Given the description of an element on the screen output the (x, y) to click on. 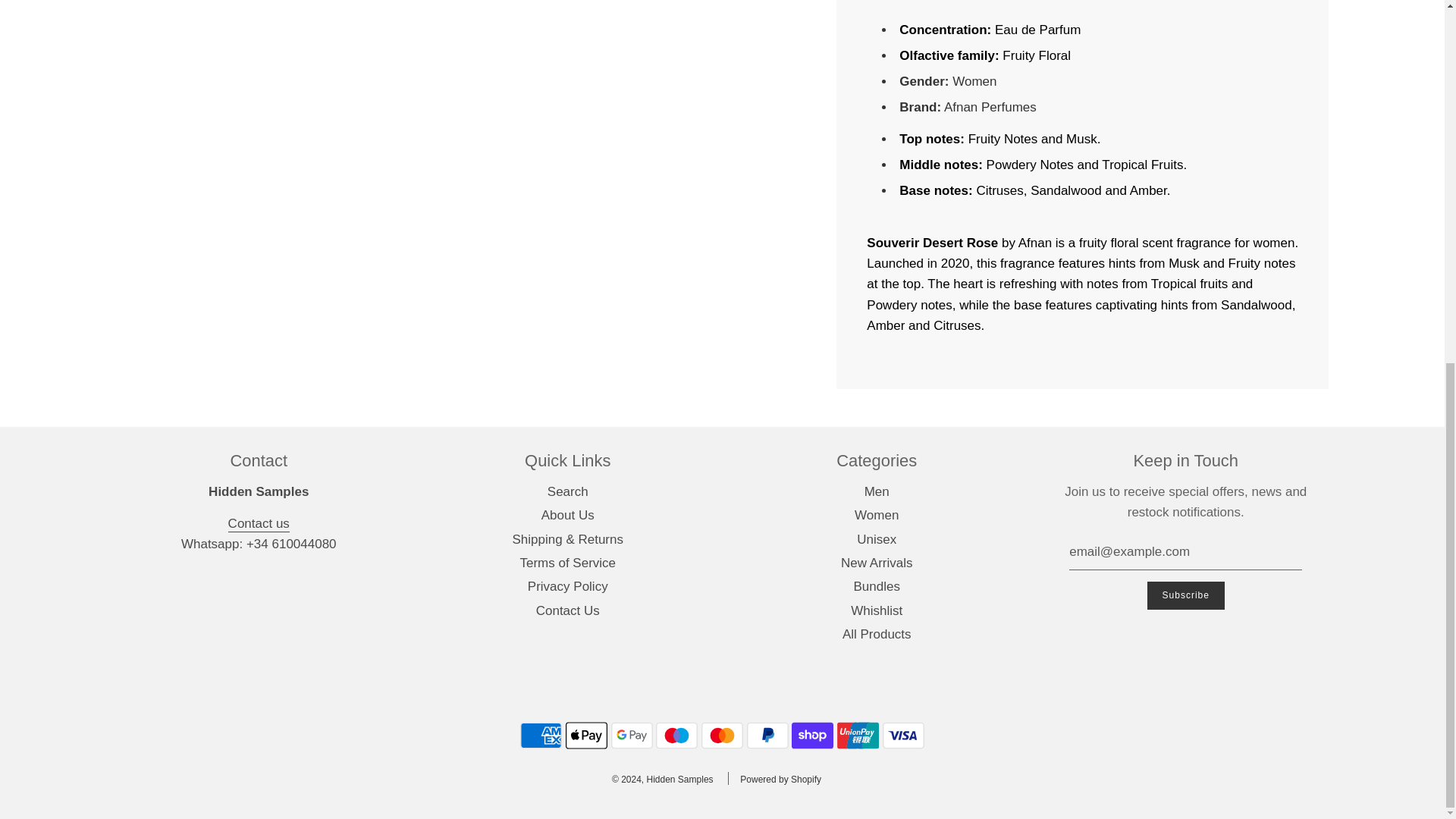
American Express (540, 735)
Contact us (258, 524)
Google Pay (631, 735)
Apple Pay (586, 735)
Shop Pay (812, 735)
PayPal (767, 735)
Union Pay (858, 735)
Maestro (676, 735)
Mastercard (721, 735)
Visa (903, 735)
